Given the description of an element on the screen output the (x, y) to click on. 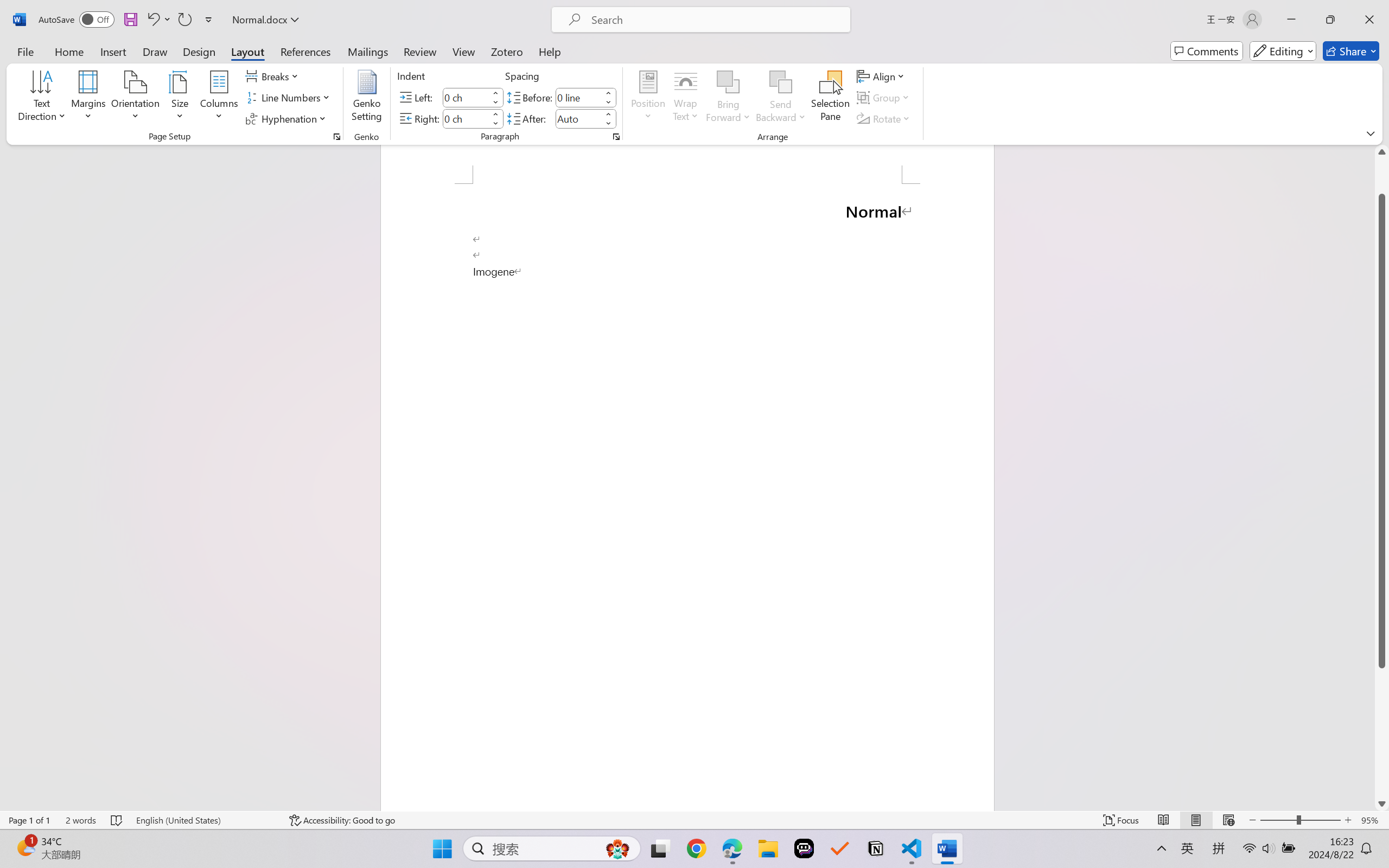
Line up (1382, 151)
Paragraph... (615, 136)
Undo Paragraph Formatting (152, 19)
Class: NetUIScrollBar (1382, 477)
Text Direction (42, 97)
Zoom 95% (1372, 819)
